Given the description of an element on the screen output the (x, y) to click on. 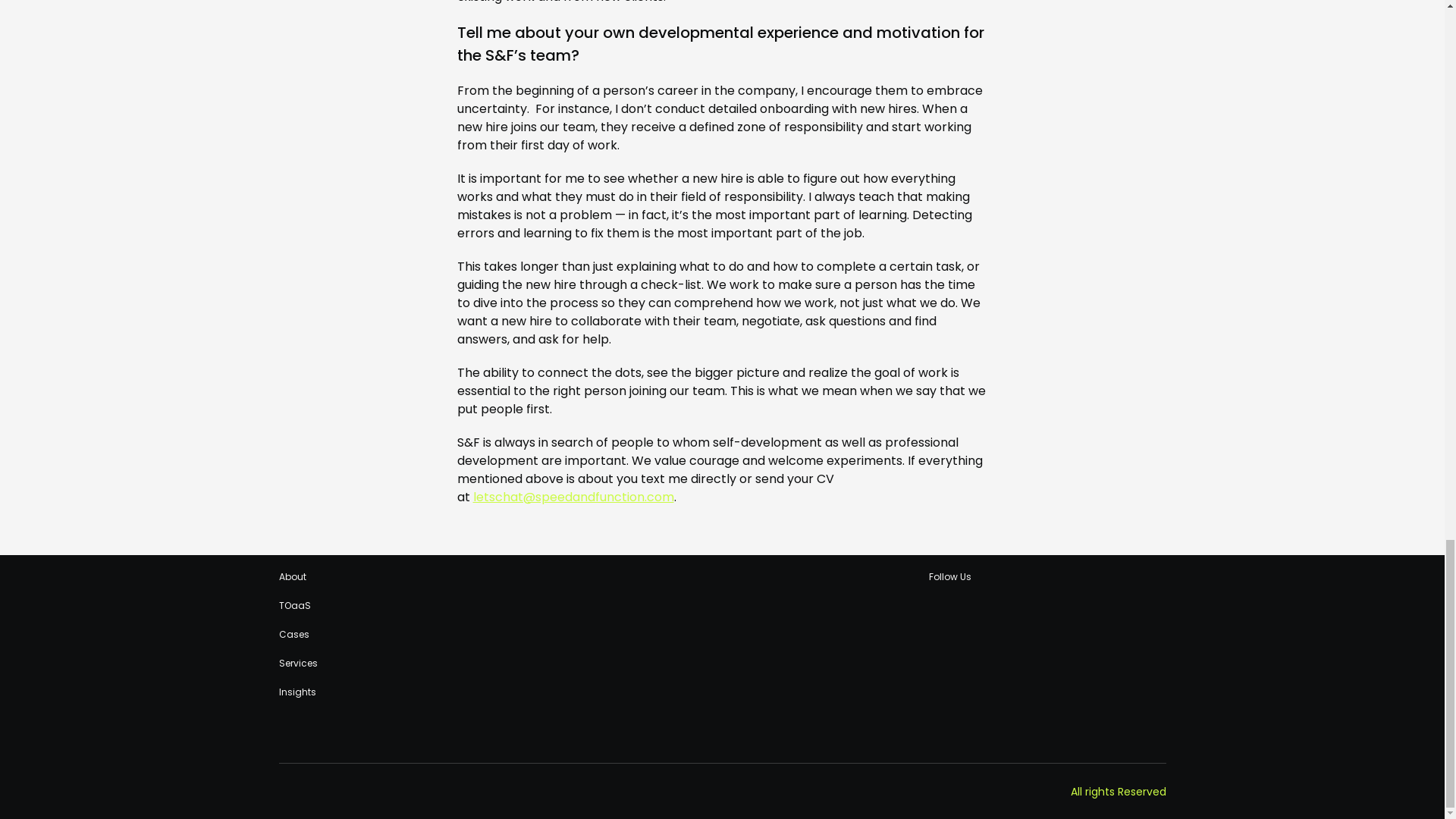
Insights (297, 692)
Services (298, 663)
About (292, 576)
TOaaS (295, 605)
Cases (293, 634)
